Given the description of an element on the screen output the (x, y) to click on. 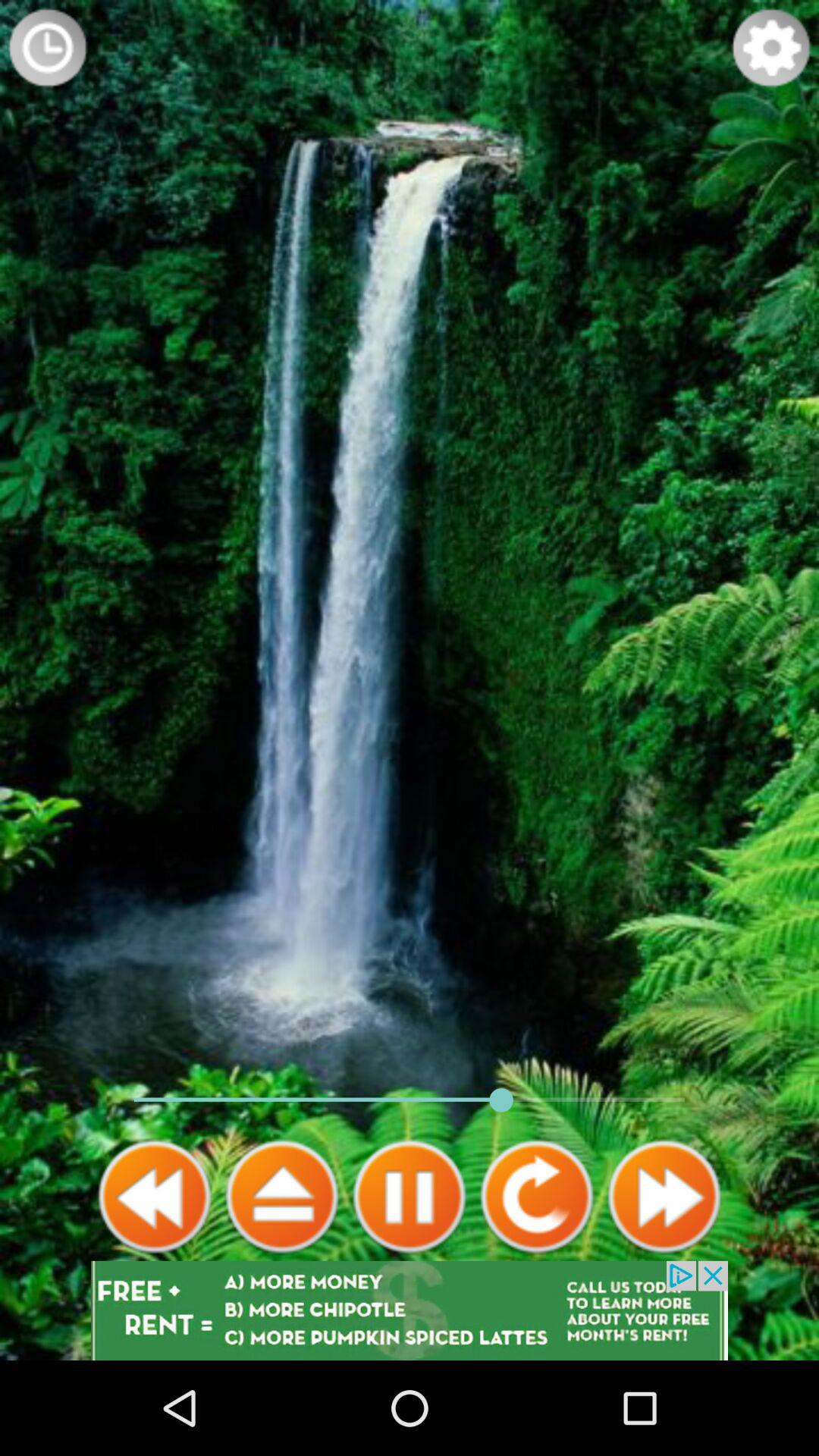
advertisement (409, 1310)
